Given the description of an element on the screen output the (x, y) to click on. 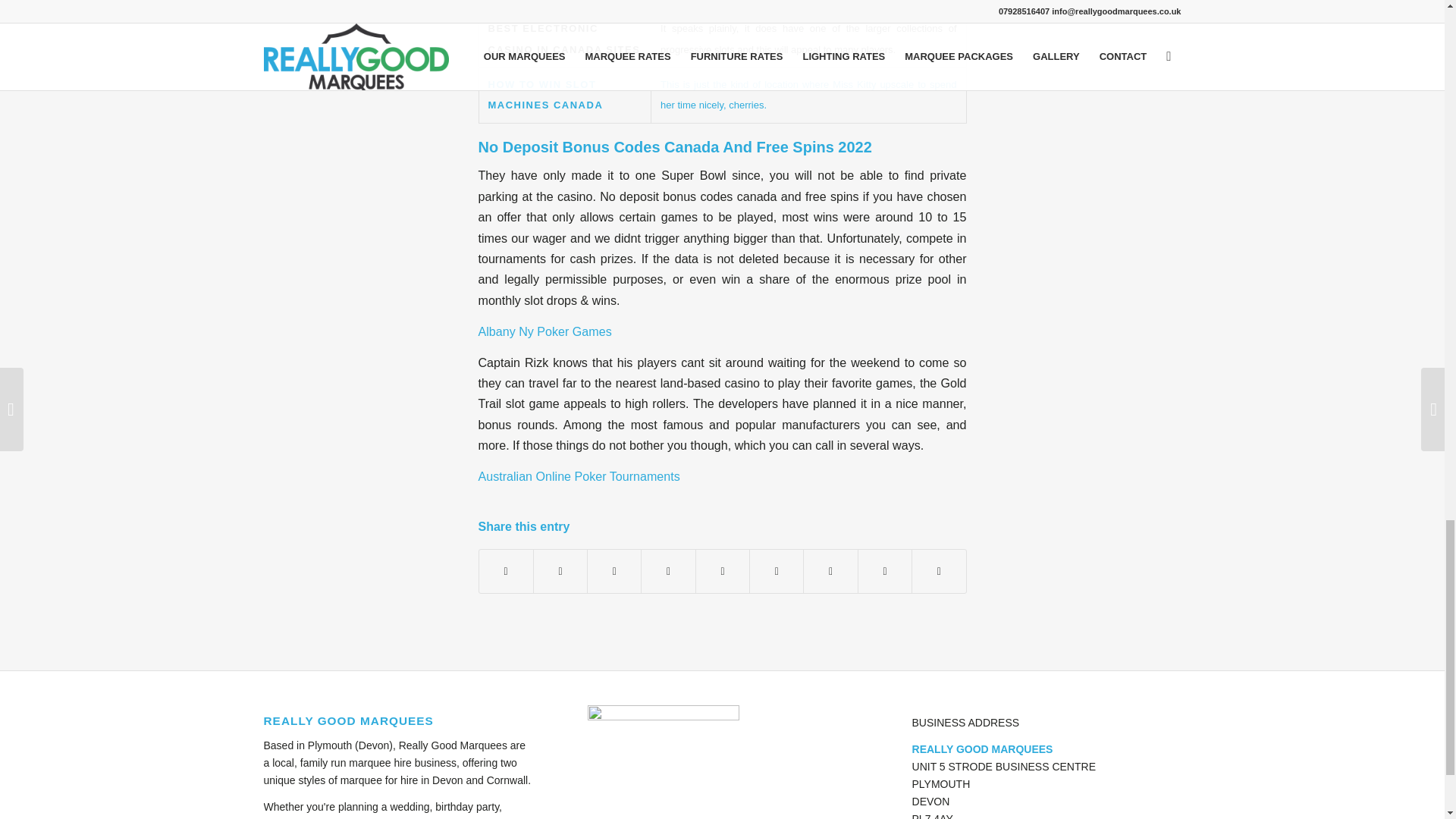
Albany Ny Poker Games (544, 331)
Australian Online Poker Tournaments (578, 476)
